Given the description of an element on the screen output the (x, y) to click on. 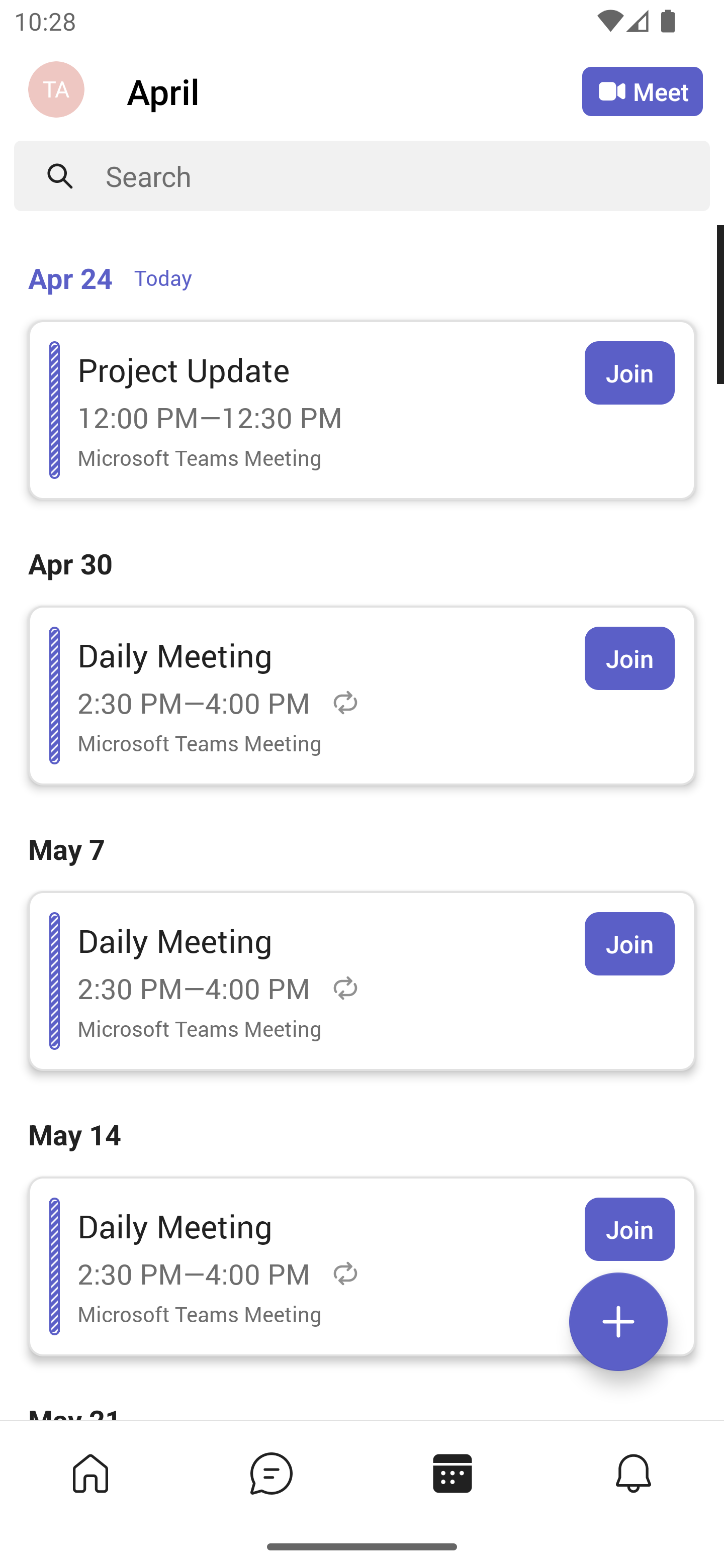
Navigation (58, 91)
Meet Meet now or join with an ID (642, 91)
April April Calendar Agenda View (354, 90)
Search (407, 176)
Join (629, 372)
Join (629, 658)
Join (629, 943)
Join (629, 1228)
Expand meetings menu (618, 1321)
Home tab,1 of 4, not selected (89, 1472)
Chat tab,2 of 4, not selected (270, 1472)
Calendar tab, 3 of 4 (451, 1472)
Activity tab,4 of 4, not selected (632, 1472)
